Given the description of an element on the screen output the (x, y) to click on. 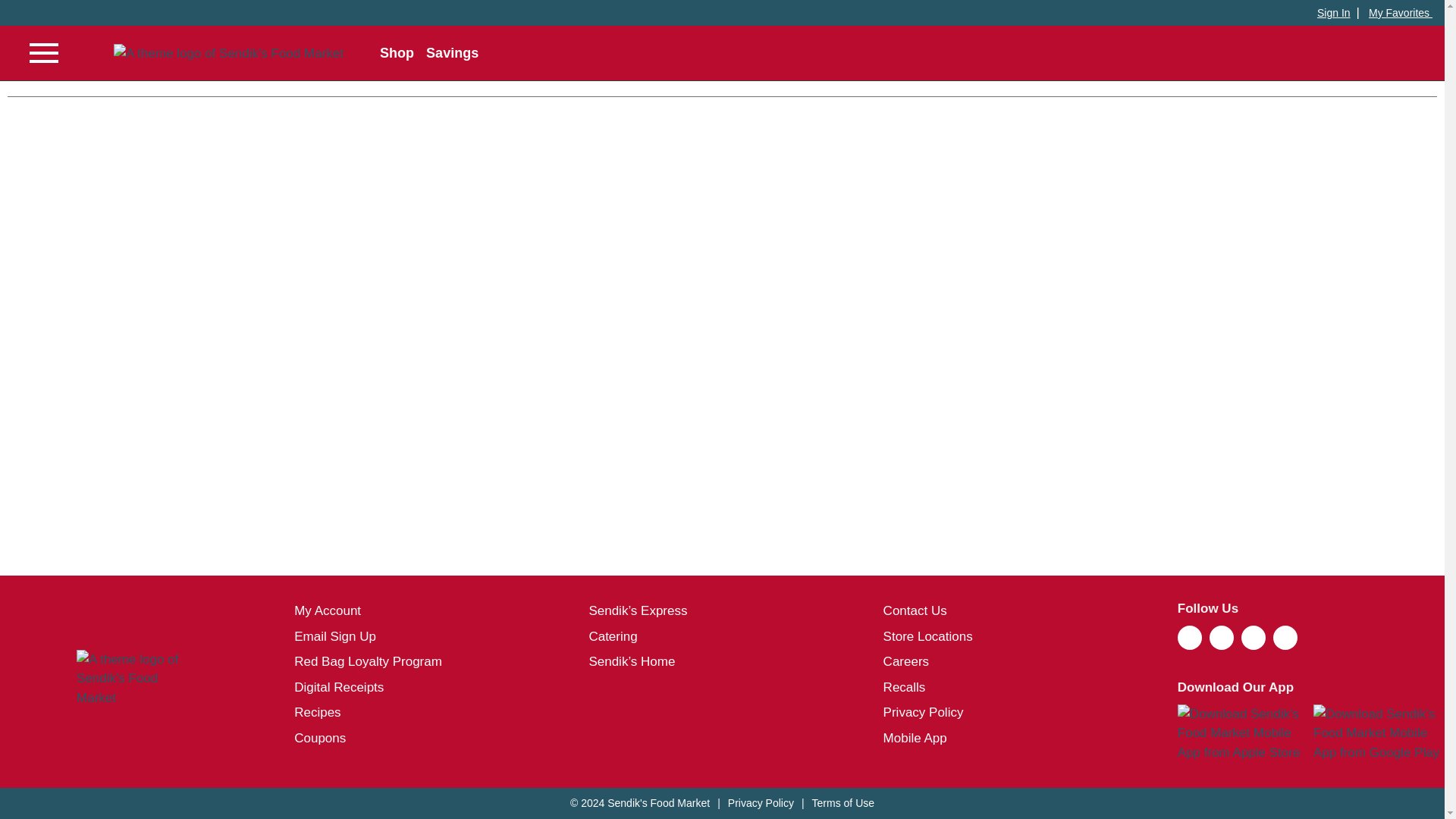
facebook (1189, 645)
instagram (1221, 645)
twitter (1253, 645)
youtube (1284, 645)
